Given the description of an element on the screen output the (x, y) to click on. 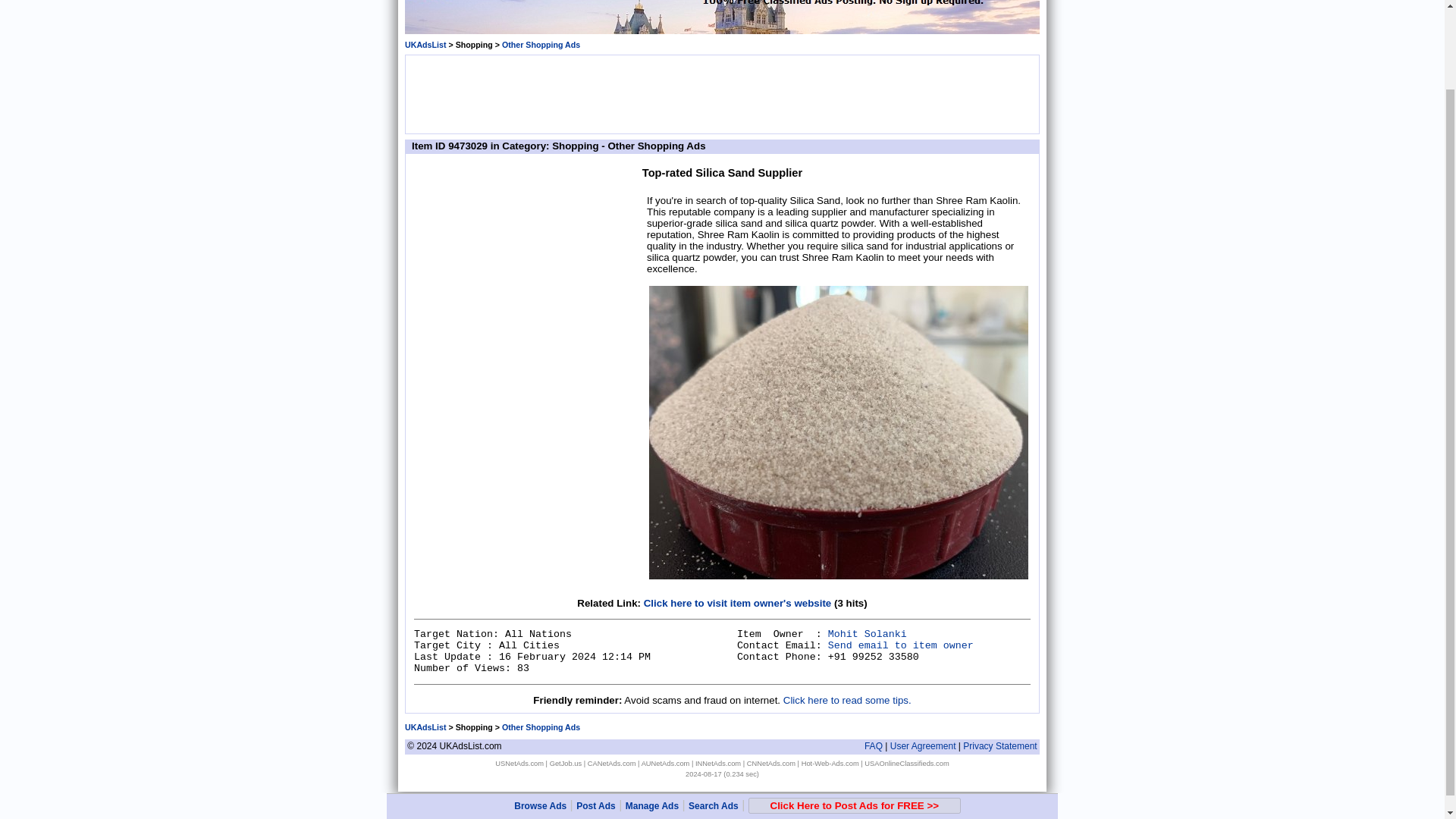
Post Ads (595, 715)
USNetAds.com (519, 763)
Manage Ads (652, 715)
Browse all items posted by this owner (867, 633)
Advertisement (721, 92)
Search Ads (713, 715)
UKAdsList (424, 727)
Browse Ads (539, 715)
GetJob.us (566, 763)
Go Back to UKAdsList.com Home Page (424, 727)
